Given the description of an element on the screen output the (x, y) to click on. 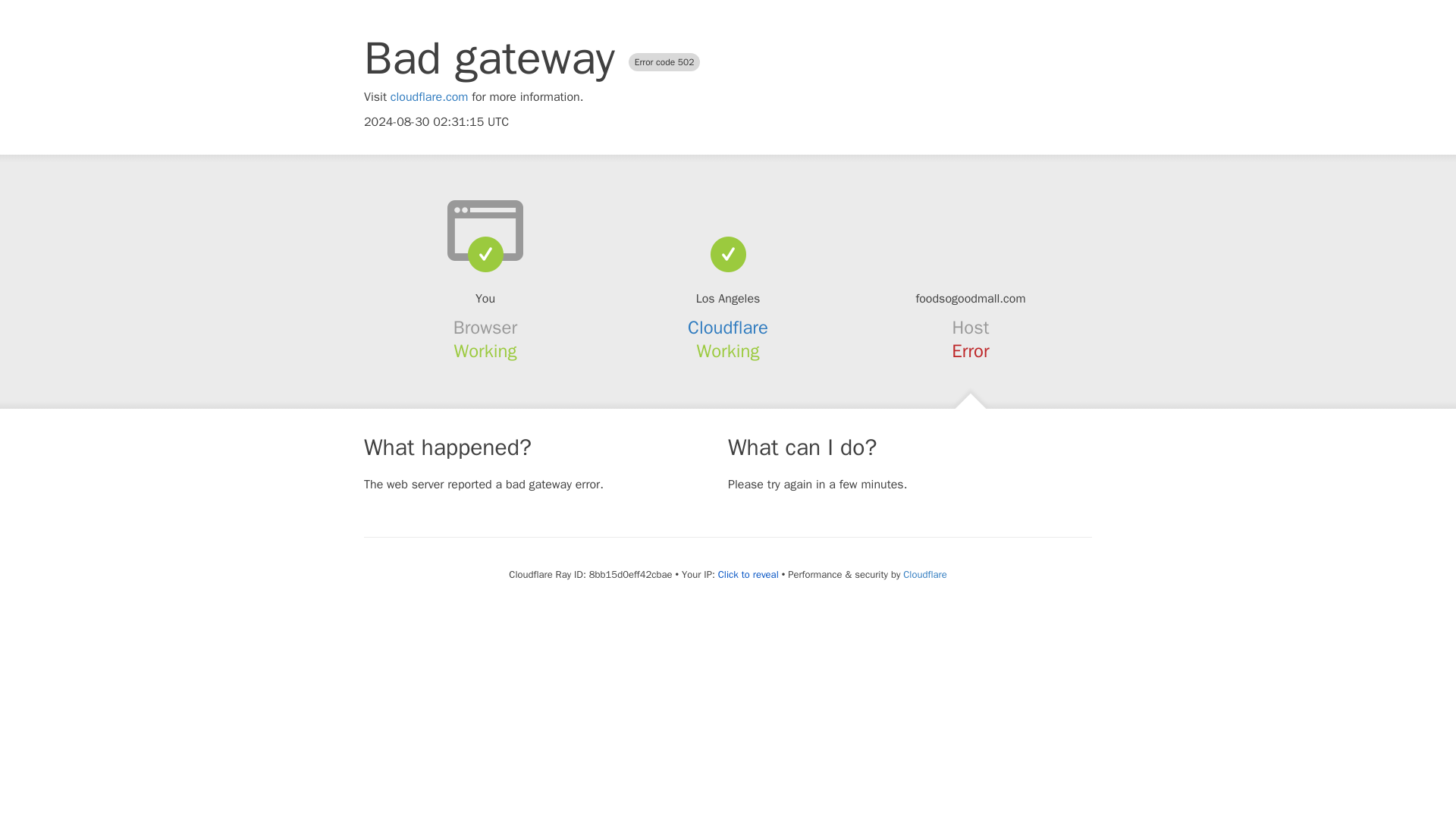
Cloudflare (924, 574)
cloudflare.com (429, 96)
Click to reveal (747, 574)
Cloudflare (727, 327)
